Given the description of an element on the screen output the (x, y) to click on. 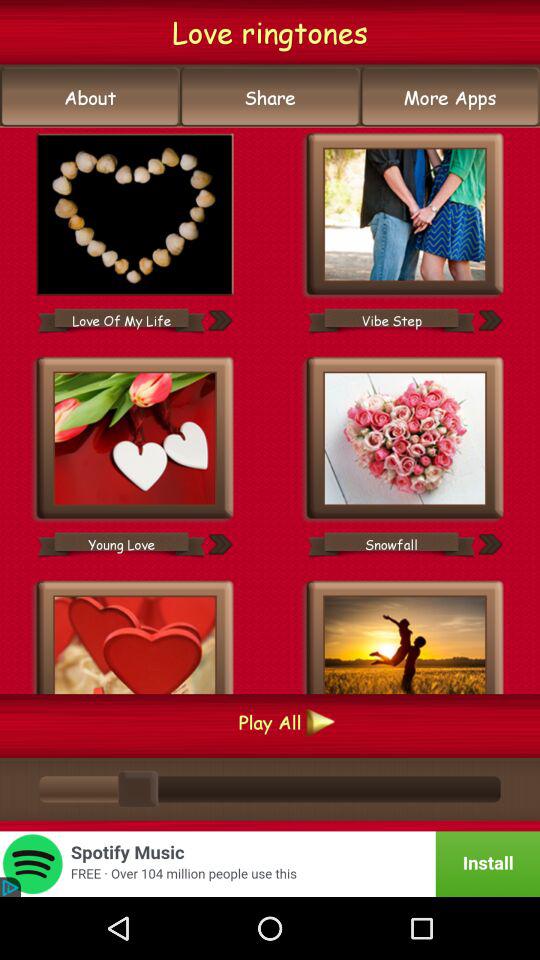
scroll to more apps (450, 97)
